Given the description of an element on the screen output the (x, y) to click on. 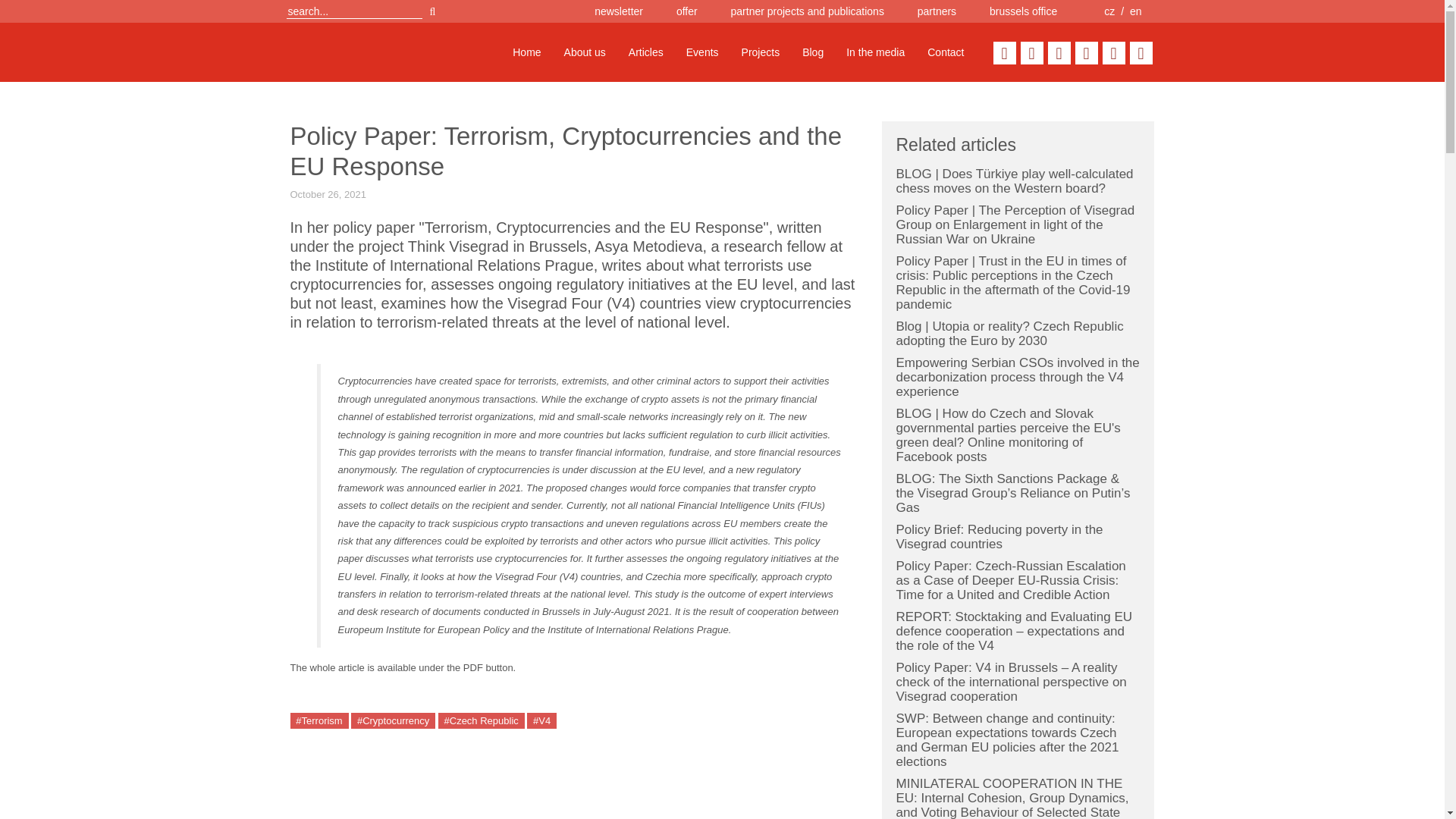
In the media (874, 51)
About us (585, 51)
brussels office (1023, 10)
Contact (945, 51)
offer (687, 10)
Projects (761, 51)
Policy Brief: Reducing poverty in the Visegrad countries (999, 536)
cz (1109, 10)
Home (525, 51)
Blog (812, 51)
partner projects and publications (806, 10)
en (1135, 10)
newsletter (618, 10)
partners (936, 10)
